Given the description of an element on the screen output the (x, y) to click on. 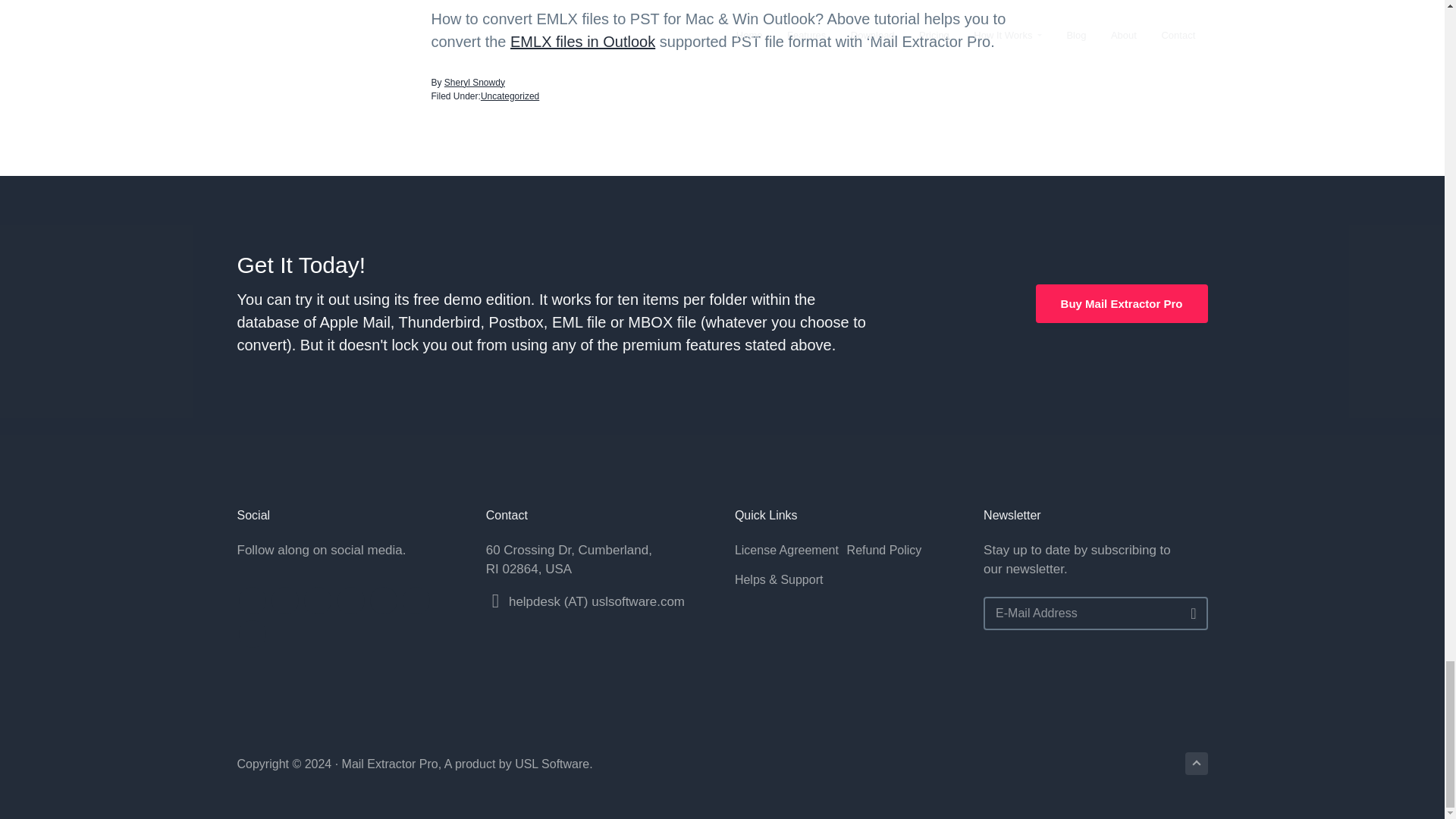
Go (1188, 613)
Uncategorized (509, 96)
License Agreement (791, 550)
Buy Mail Extractor Pro (1121, 303)
Sheryl Snowdy (474, 81)
EMLX files in Outlook (583, 41)
Refund Policy (903, 550)
